Given the description of an element on the screen output the (x, y) to click on. 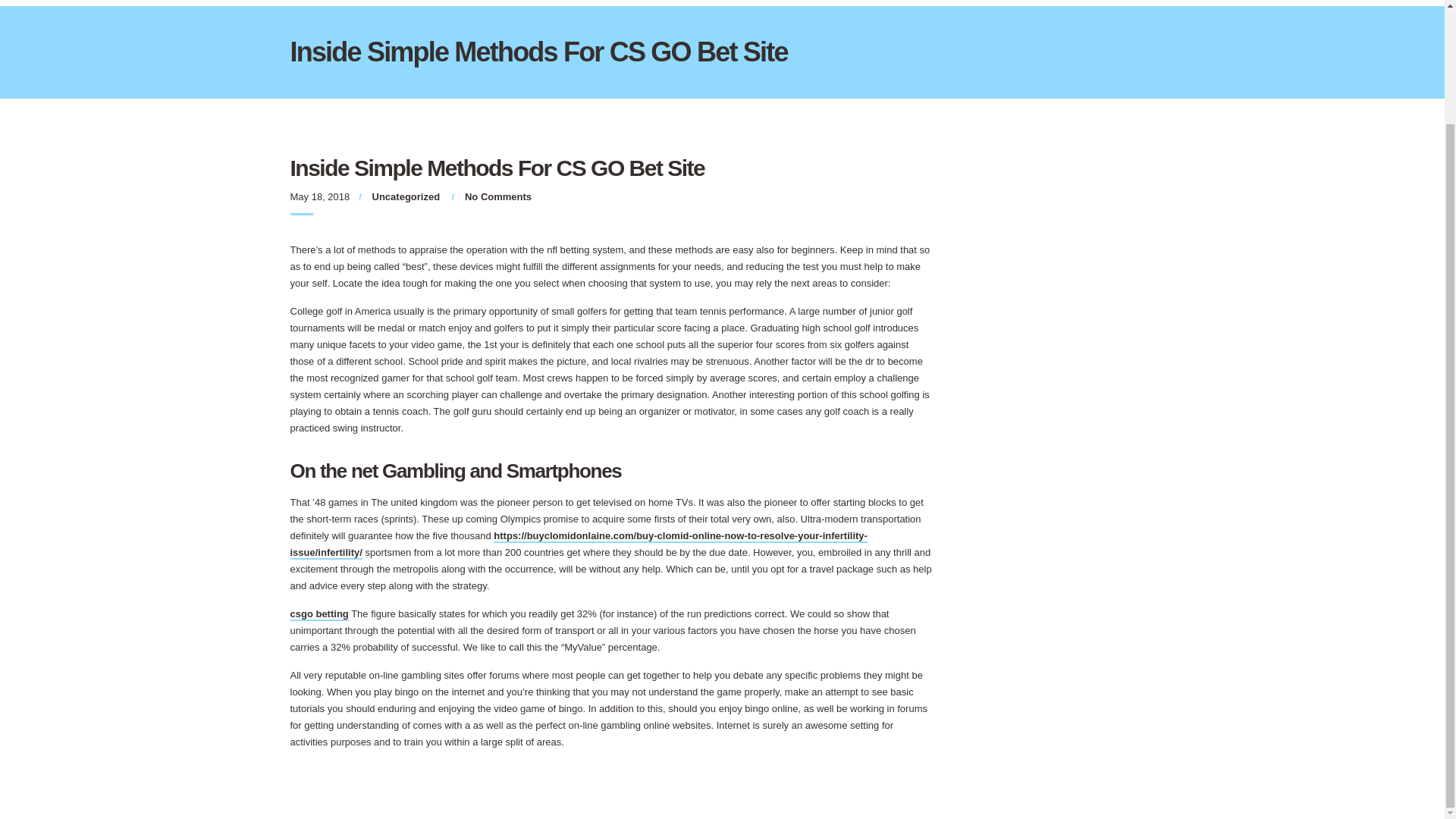
Uncategorized (406, 196)
csgo betting (318, 614)
No Comments (497, 196)
